Given the description of an element on the screen output the (x, y) to click on. 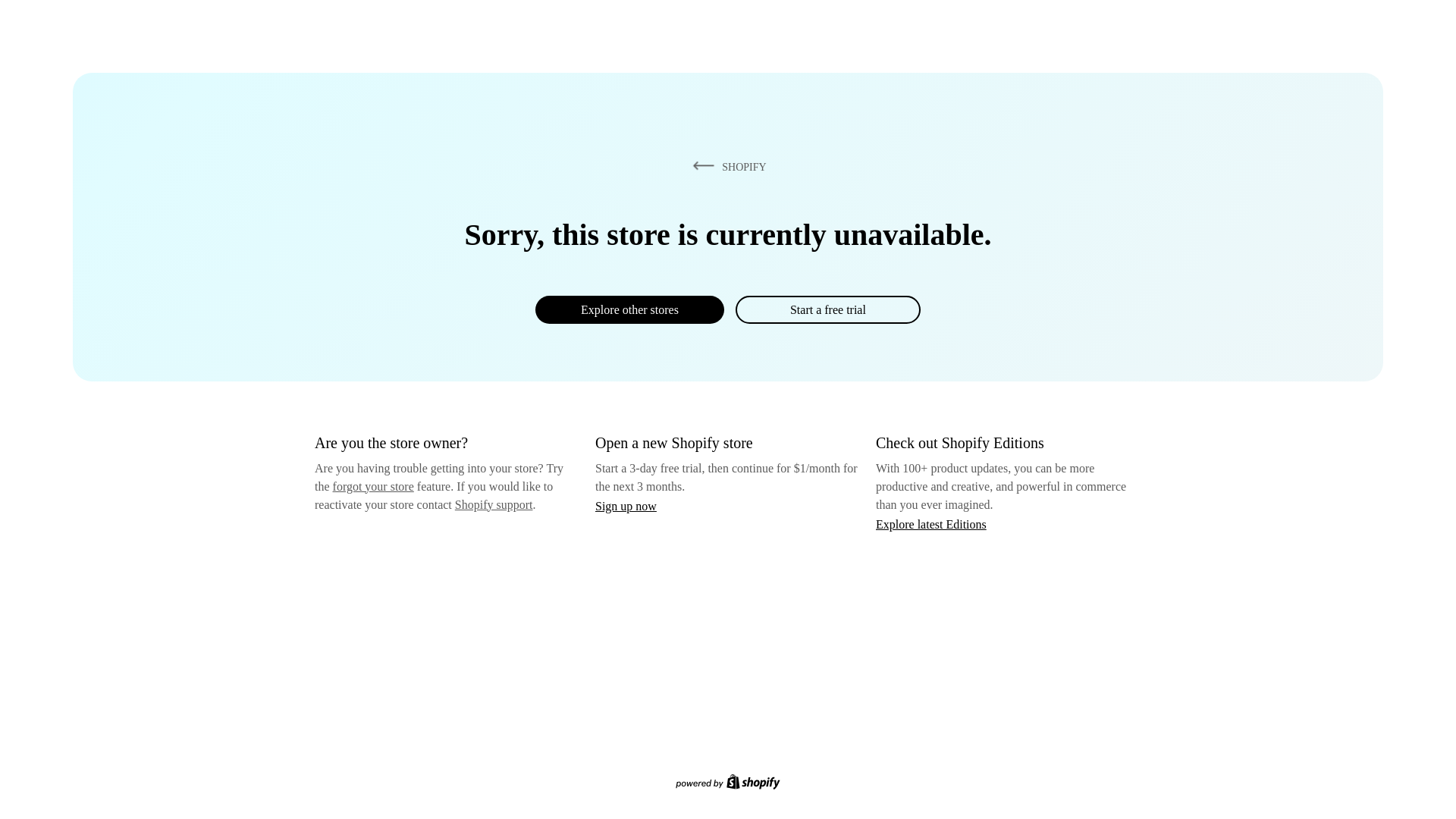
forgot your store (373, 486)
SHOPIFY (726, 166)
Shopify support (493, 504)
Sign up now (625, 505)
Explore other stores (629, 309)
Explore latest Editions (931, 523)
Start a free trial (827, 309)
